Given the description of an element on the screen output the (x, y) to click on. 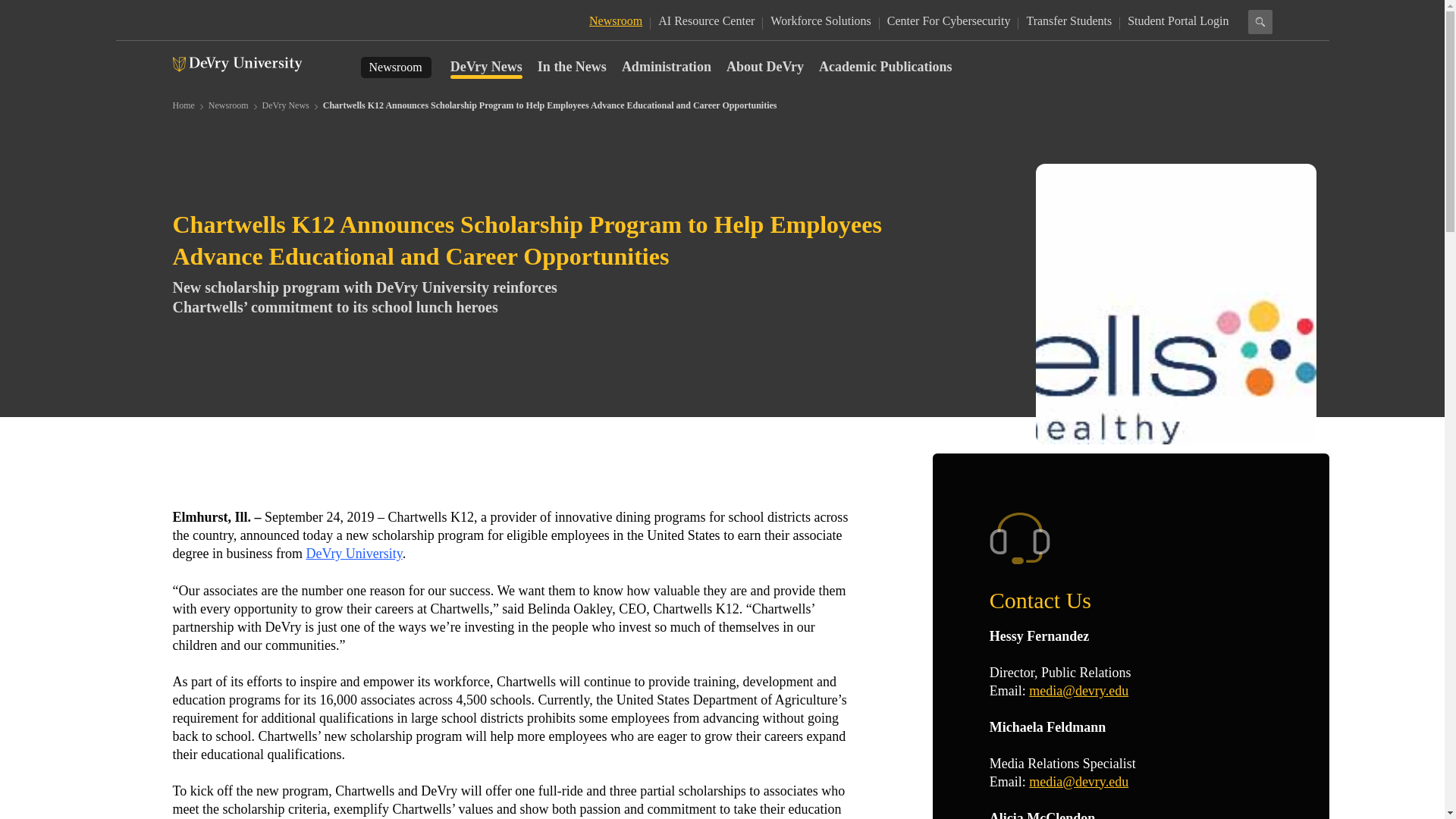
About DeVry (764, 59)
Transfer Students (1069, 20)
Newsroom (395, 66)
DeVry University (353, 553)
Newsroom (228, 105)
Home (184, 105)
Workforce Solutions (820, 20)
Center For Cybersecurity (948, 20)
Administration (666, 59)
AI Resource Center (706, 20)
